Given the description of an element on the screen output the (x, y) to click on. 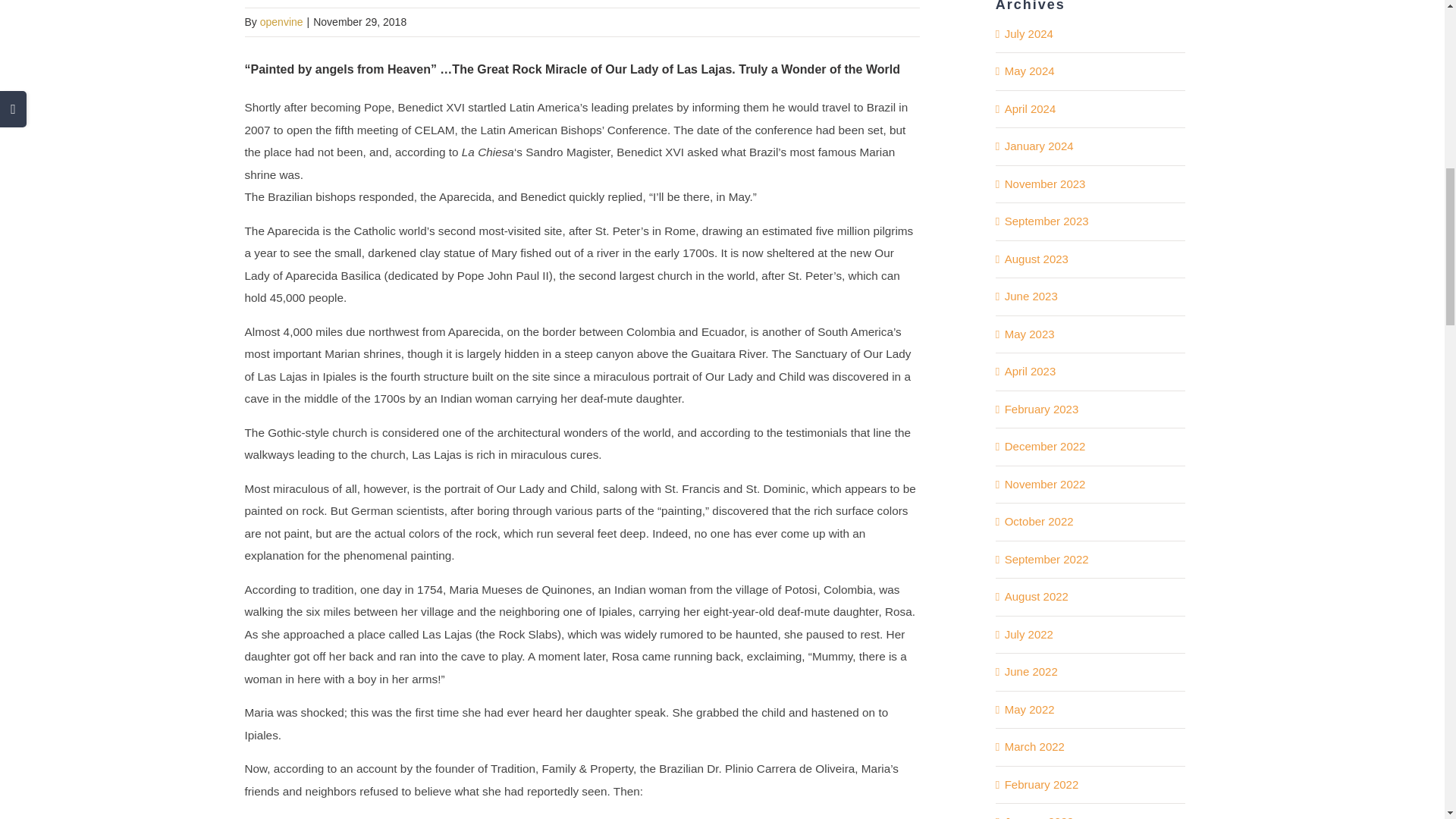
Posts by openvine (281, 21)
